Given the description of an element on the screen output the (x, y) to click on. 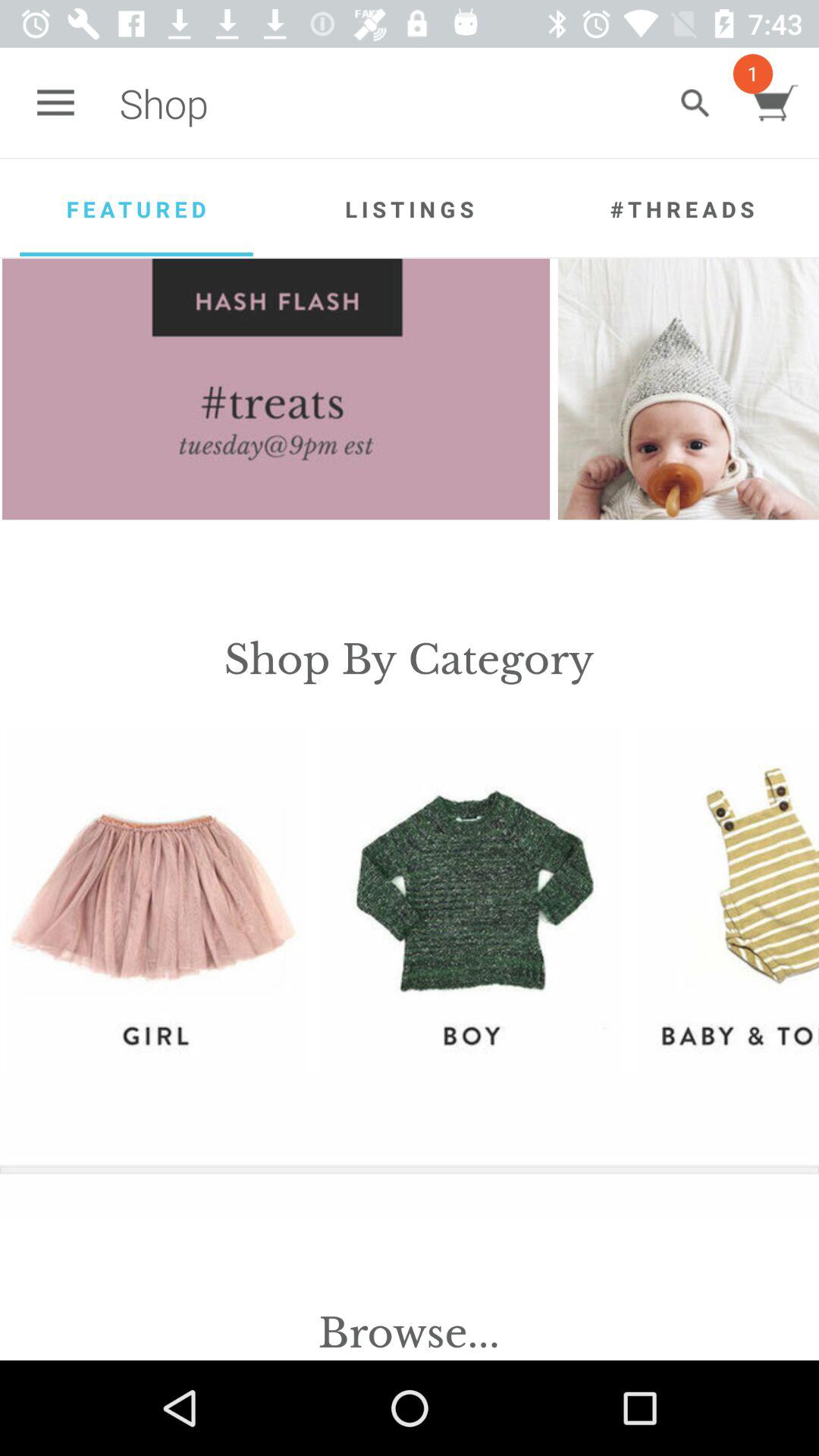
select the picture (695, 103)
